Given the description of an element on the screen output the (x, y) to click on. 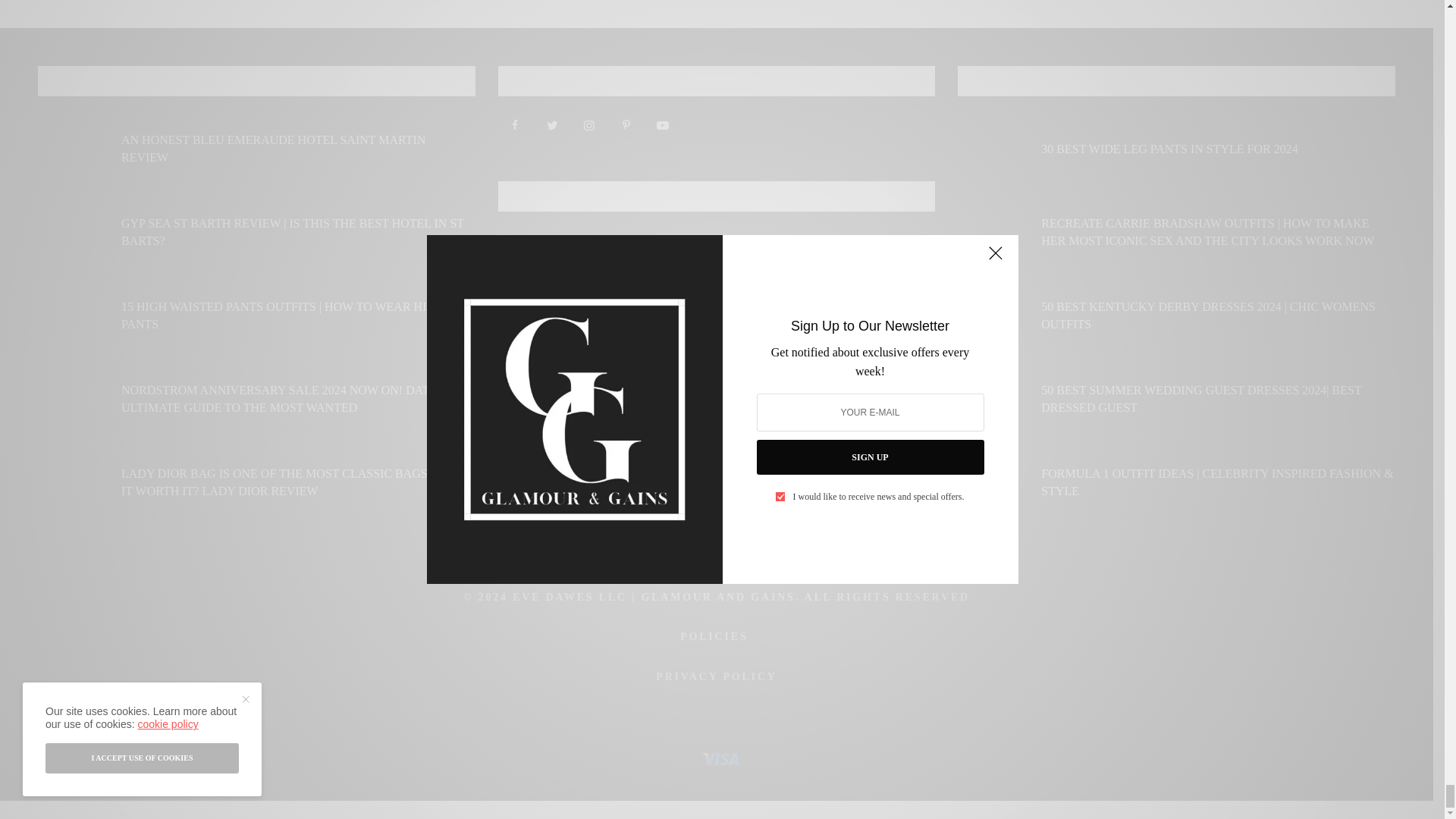
An Honest Bleu Emeraude Hotel Saint Martin Review (298, 148)
